Given the description of an element on the screen output the (x, y) to click on. 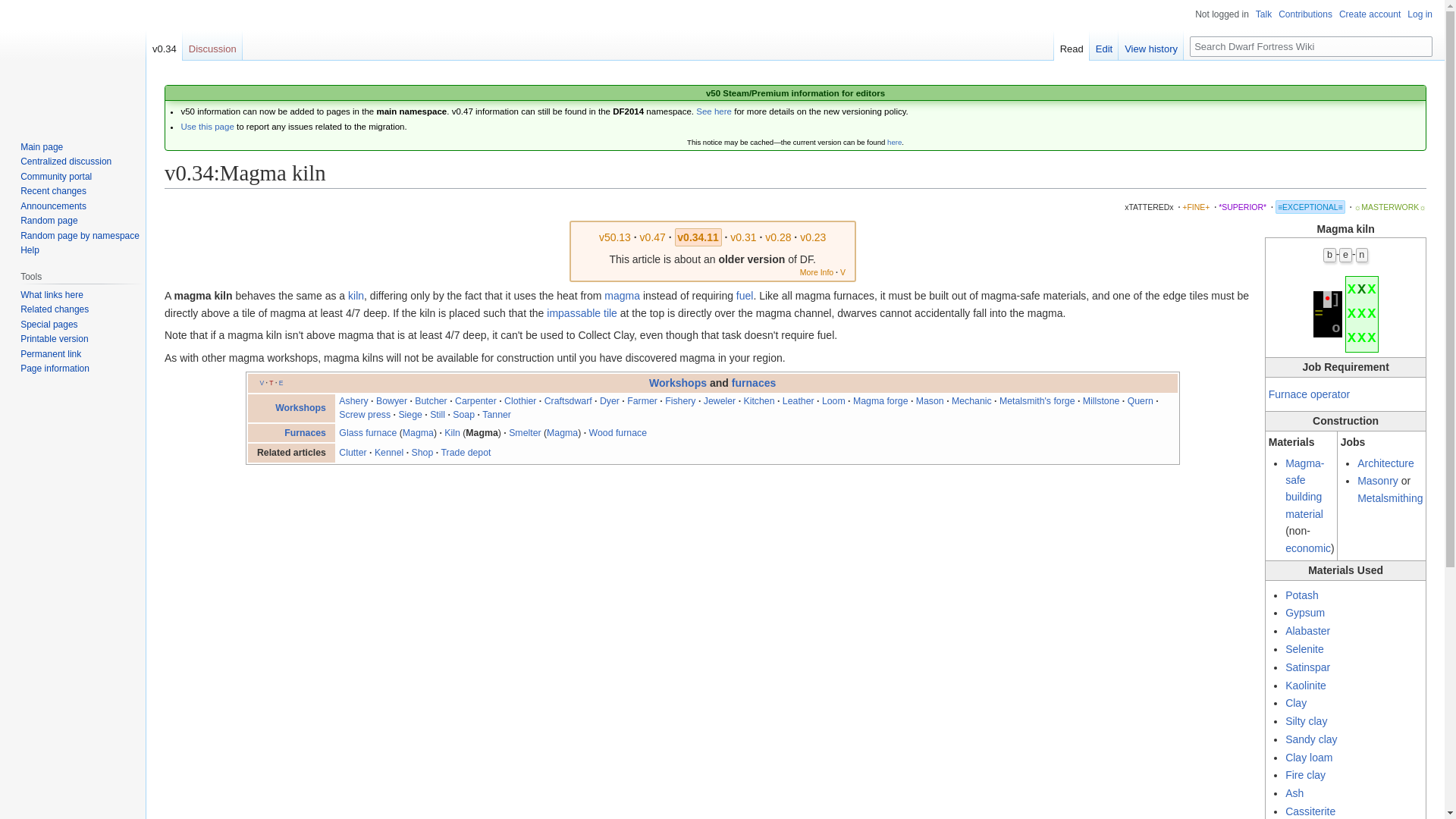
Dwarf Fortress Wiki:Quality (1310, 206)
Magma-safe (1304, 471)
Kaolinite (1305, 685)
Selenite (1304, 648)
Dwarf Fortress Wiki talk:Versions (206, 126)
xTATTEREDx (1148, 206)
Ash (1294, 793)
Clay (1295, 702)
Silty clay (1305, 720)
economic (1307, 547)
